Given the description of an element on the screen output the (x, y) to click on. 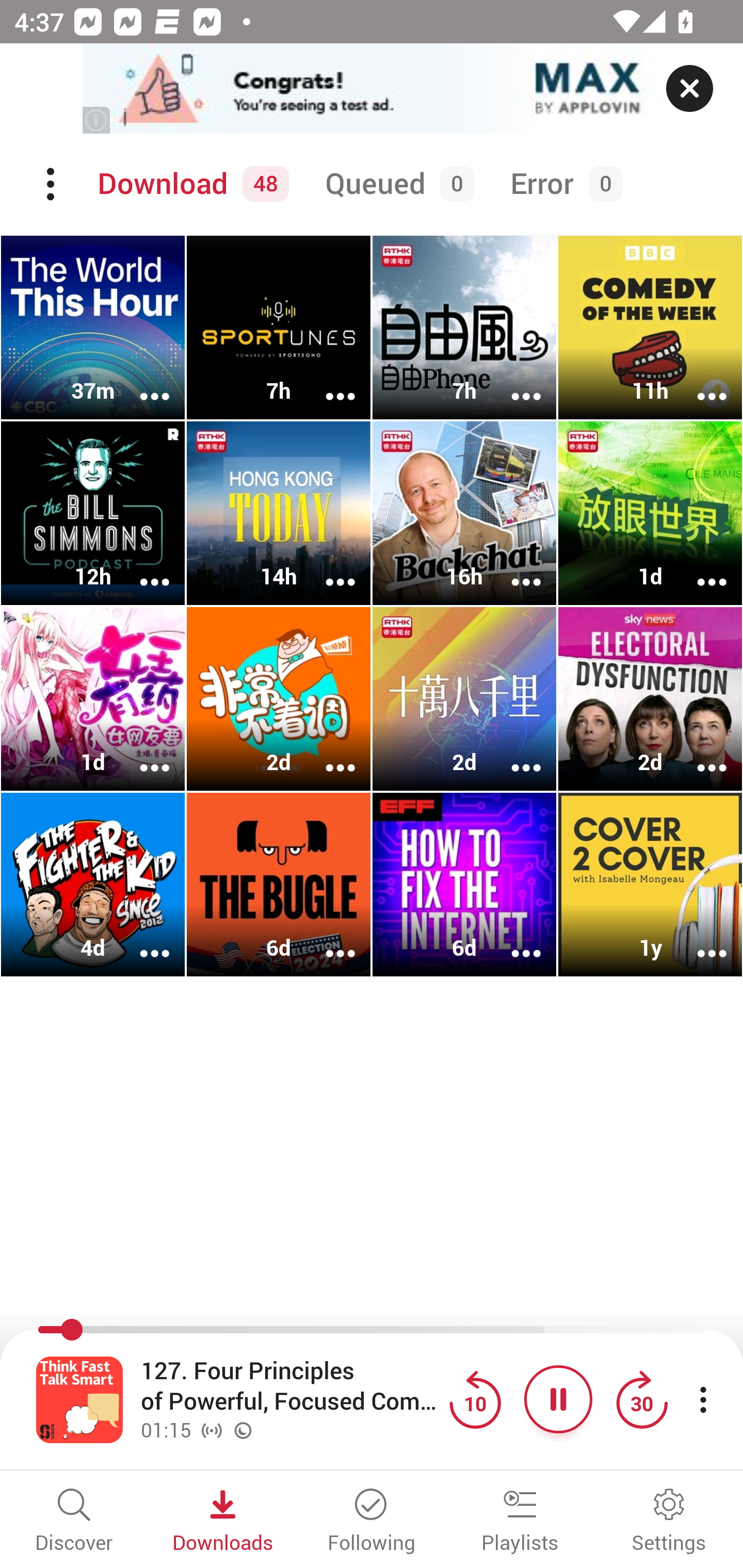
app-monetization (371, 88)
(i) (96, 119)
Menu (52, 184)
 Download 48 (189, 184)
 Queued 0 (396, 184)
 Error 0 (562, 184)
The World This Hour 37m More options More options (92, 327)
Sportunes HK 7h More options More options (278, 327)
自由风自由PHONE 7h More options More options (464, 327)
Comedy of the Week 11h More options More options (650, 327)
More options (141, 382)
More options (326, 382)
More options (512, 382)
More options (698, 382)
Hong Kong Today 14h More options More options (278, 513)
Backchat 16h More options More options (464, 513)
放眼世界 1d More options More options (650, 513)
More options (141, 569)
More options (326, 569)
More options (512, 569)
More options (698, 569)
女王有药丨爆笑脱口秀 1d More options More options (92, 698)
非常不着调 2d More options More options (278, 698)
十萬八千里 2d More options More options (464, 698)
Electoral Dysfunction 2d More options More options (650, 698)
More options (141, 754)
More options (326, 754)
More options (512, 754)
More options (698, 754)
The Fighter & The Kid 4d More options More options (92, 883)
The Bugle 6d More options More options (278, 883)
Cover 2 Cover 1y More options More options (650, 883)
More options (141, 940)
More options (326, 940)
More options (512, 940)
More options (698, 940)
Open fullscreen player (79, 1399)
More player controls (703, 1399)
Pause button (558, 1398)
Jump back (475, 1399)
Jump forward (641, 1399)
Discover (74, 1521)
Downloads (222, 1521)
Following (371, 1521)
Playlists (519, 1521)
Settings (668, 1521)
